Given the description of an element on the screen output the (x, y) to click on. 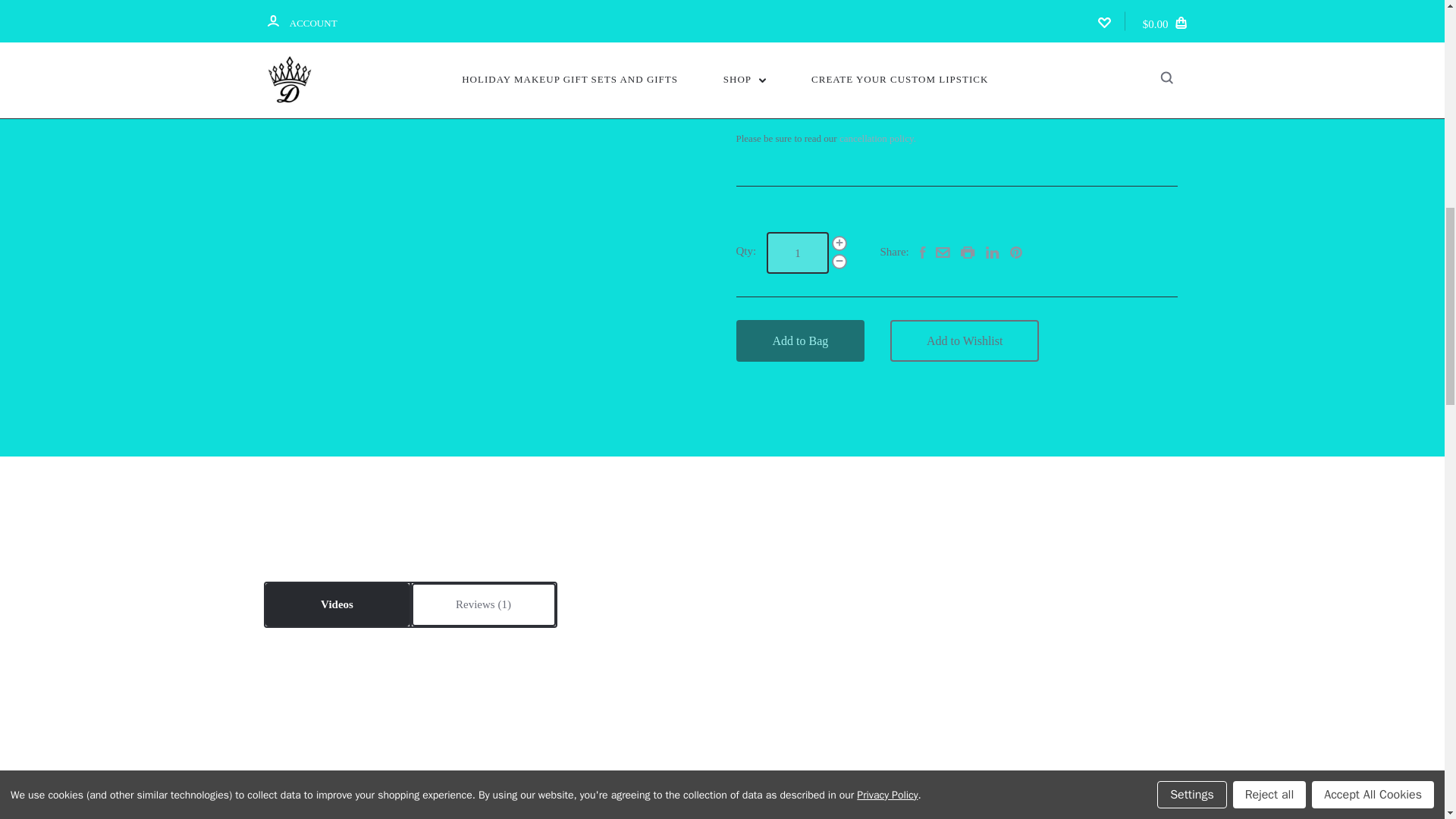
pinterest (1016, 252)
linkedin (991, 252)
printer (967, 252)
1 (797, 252)
email (943, 252)
cancellation policy. (877, 138)
email (943, 254)
